Given the description of an element on the screen output the (x, y) to click on. 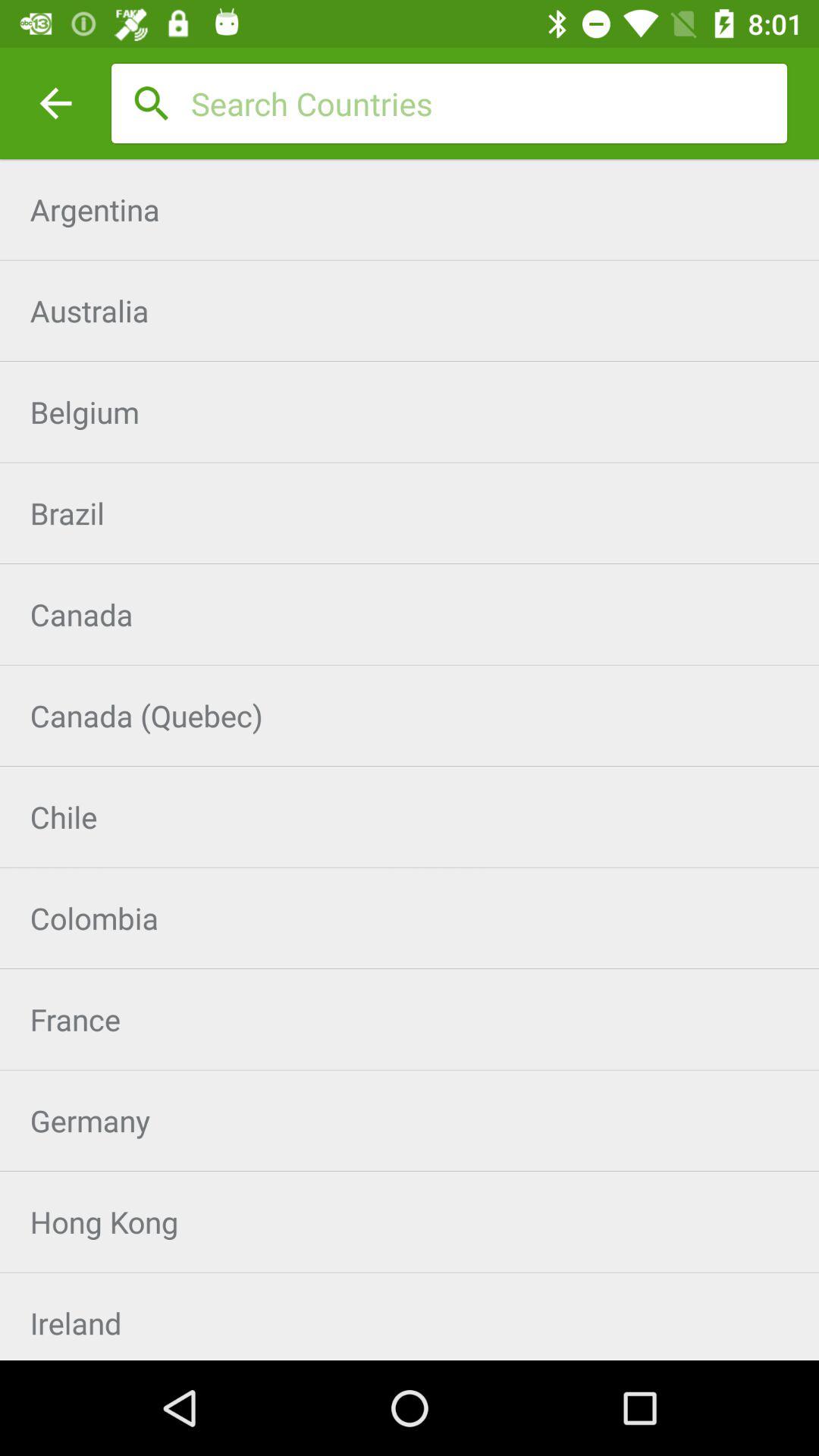
swipe to hong kong (409, 1221)
